Given the description of an element on the screen output the (x, y) to click on. 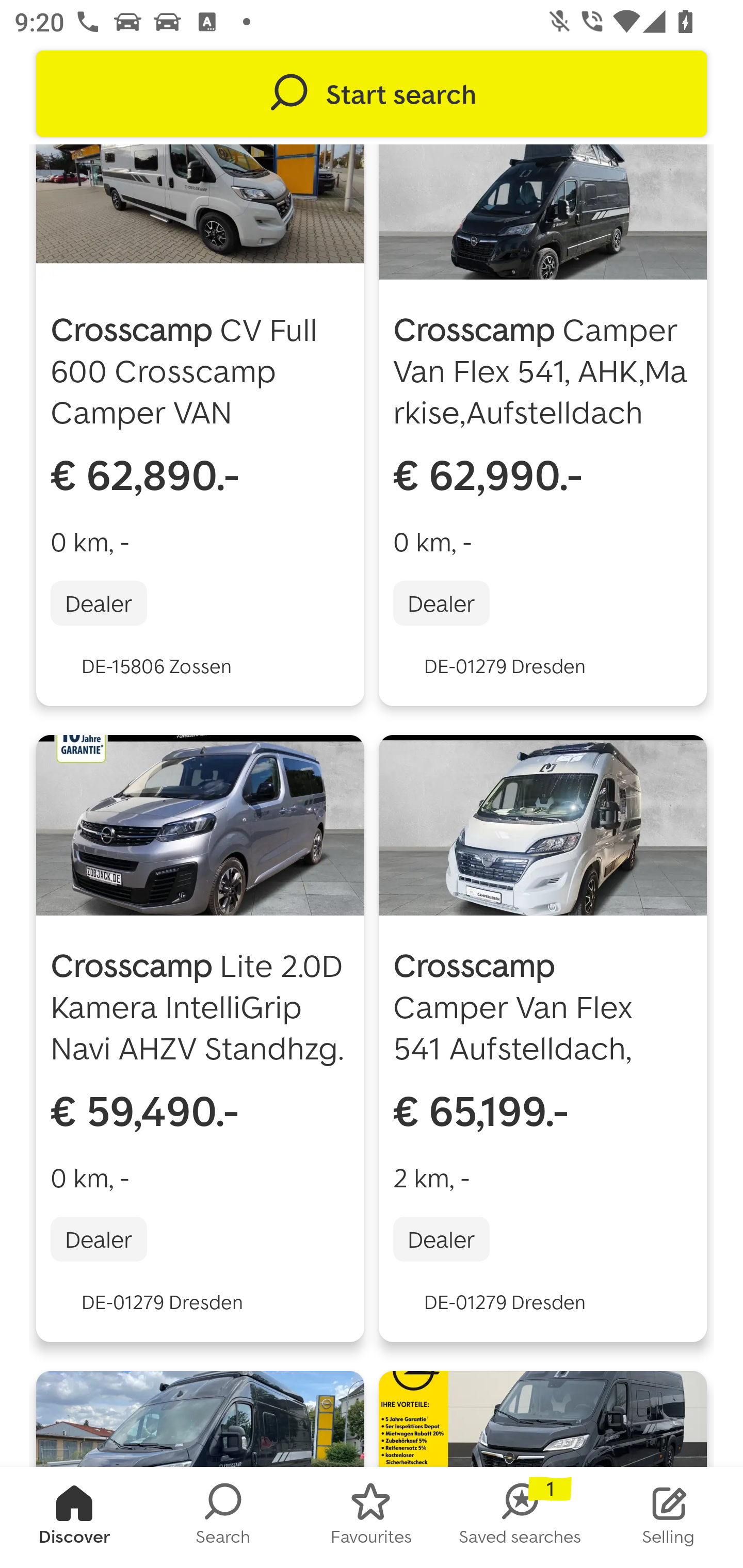
Start search (371, 93)
HOMESCREEN Discover (74, 1517)
SEARCH Search (222, 1517)
FAVORITES Favourites (371, 1517)
SAVED_SEARCHES Saved searches 1 (519, 1517)
STOCK_LIST Selling (668, 1517)
